Given the description of an element on the screen output the (x, y) to click on. 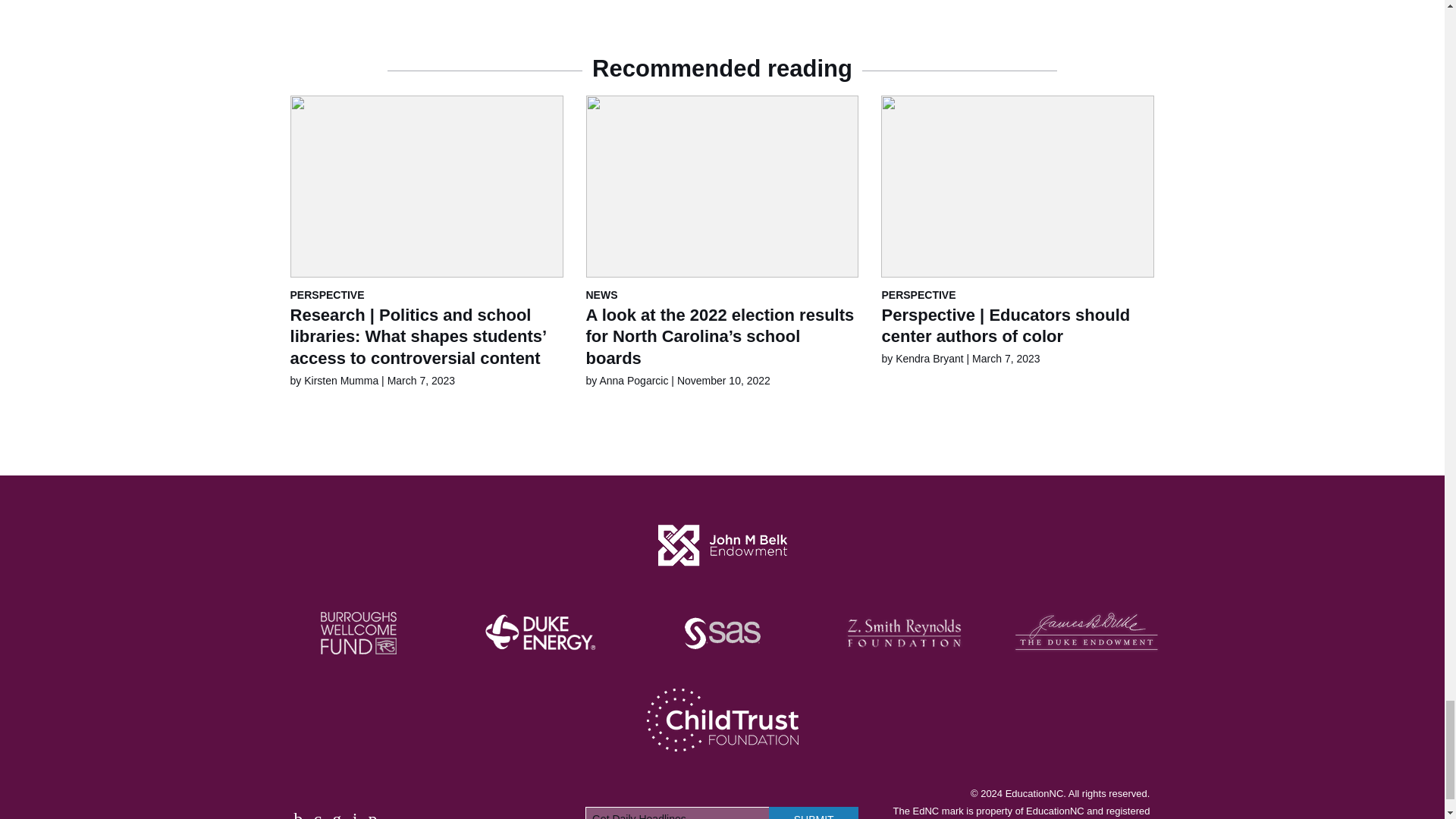
SUBMIT (813, 812)
